Given the description of an element on the screen output the (x, y) to click on. 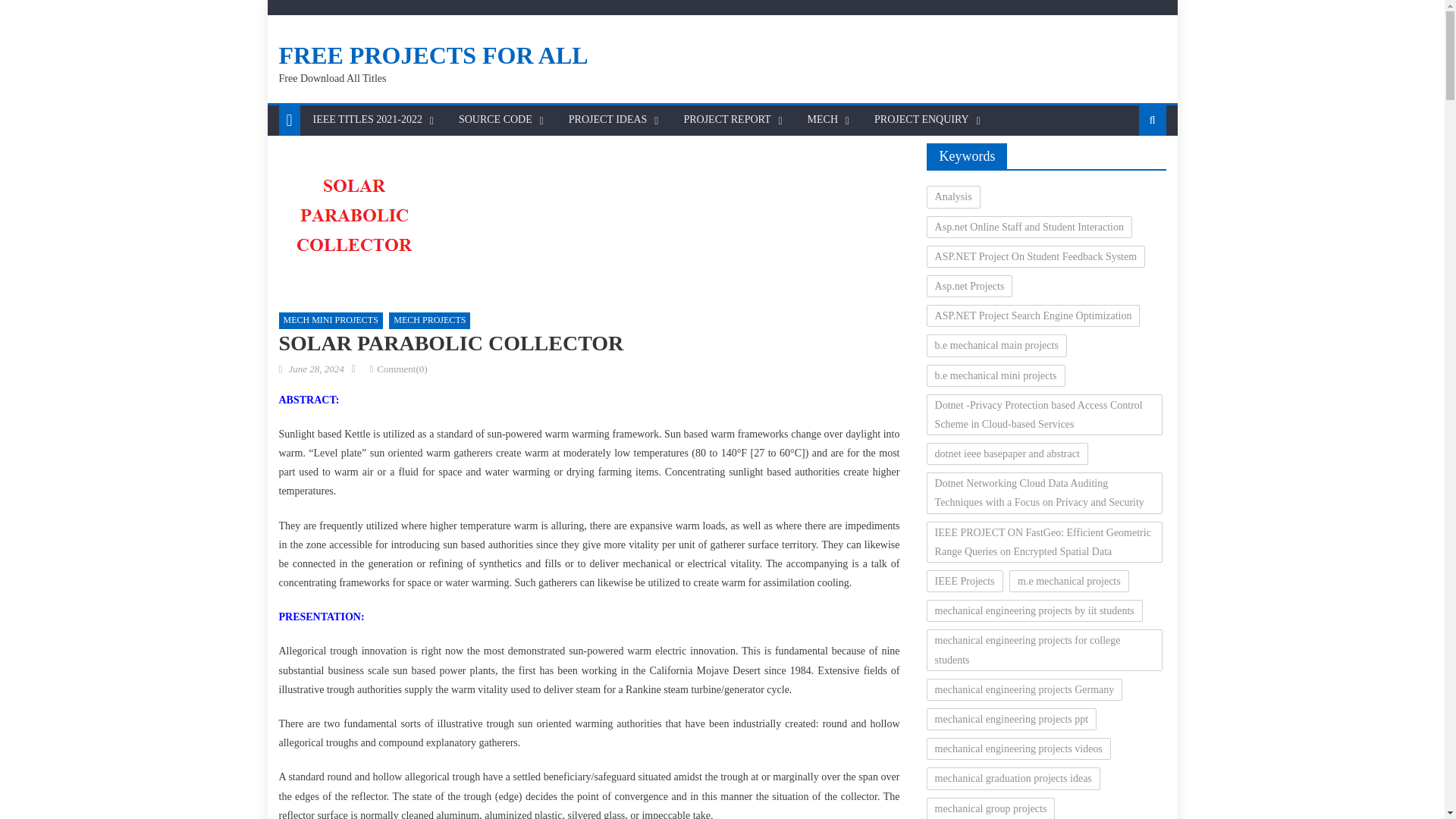
PROJECT REPORT (726, 119)
FREE PROJECTS FOR ALL (433, 54)
PROJECT IDEAS (608, 119)
IEEE TITLES 2021-2022 (367, 119)
SOURCE CODE (494, 119)
